Given the description of an element on the screen output the (x, y) to click on. 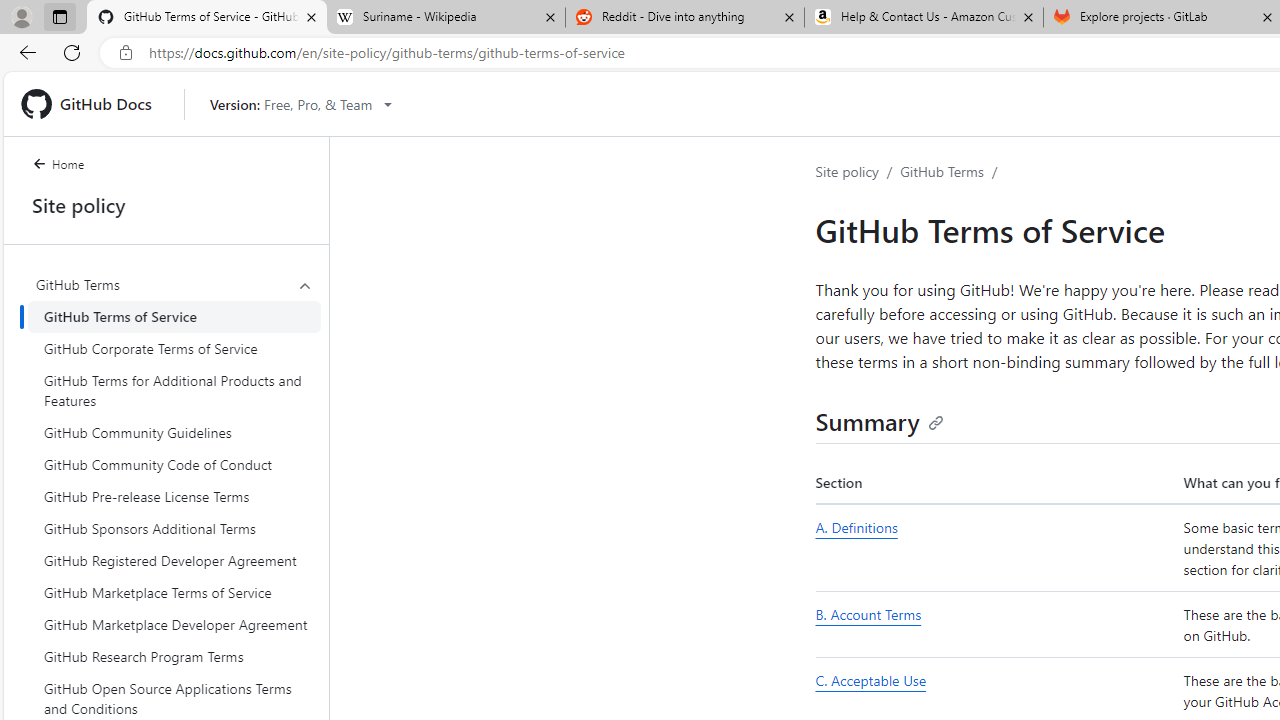
Site policy (847, 171)
GitHub Community Code of Conduct (174, 464)
C. Acceptable Use (870, 681)
Section (995, 483)
GitHub Sponsors Additional Terms (174, 528)
GitHub Sponsors Additional Terms (174, 528)
GitHub Community Code of Conduct (174, 464)
A. Definitions (856, 527)
GitHub Registered Developer Agreement (174, 560)
Help & Contact Us - Amazon Customer Service (924, 17)
GitHub Marketplace Terms of Service (174, 592)
GitHub Marketplace Developer Agreement (174, 624)
GitHub Terms for Additional Products and Features (174, 390)
